Given the description of an element on the screen output the (x, y) to click on. 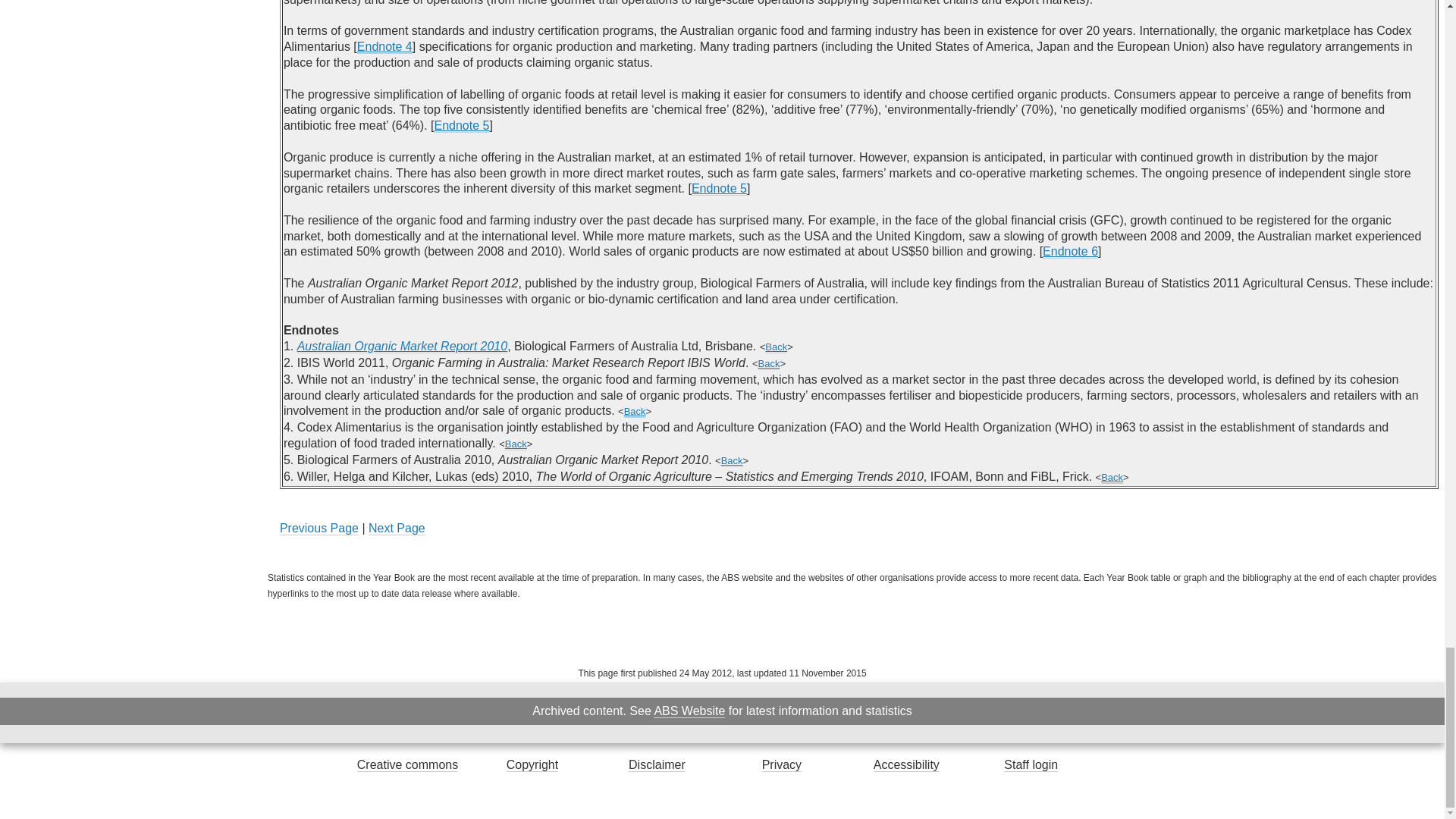
ABS Website (689, 711)
